Given the description of an element on the screen output the (x, y) to click on. 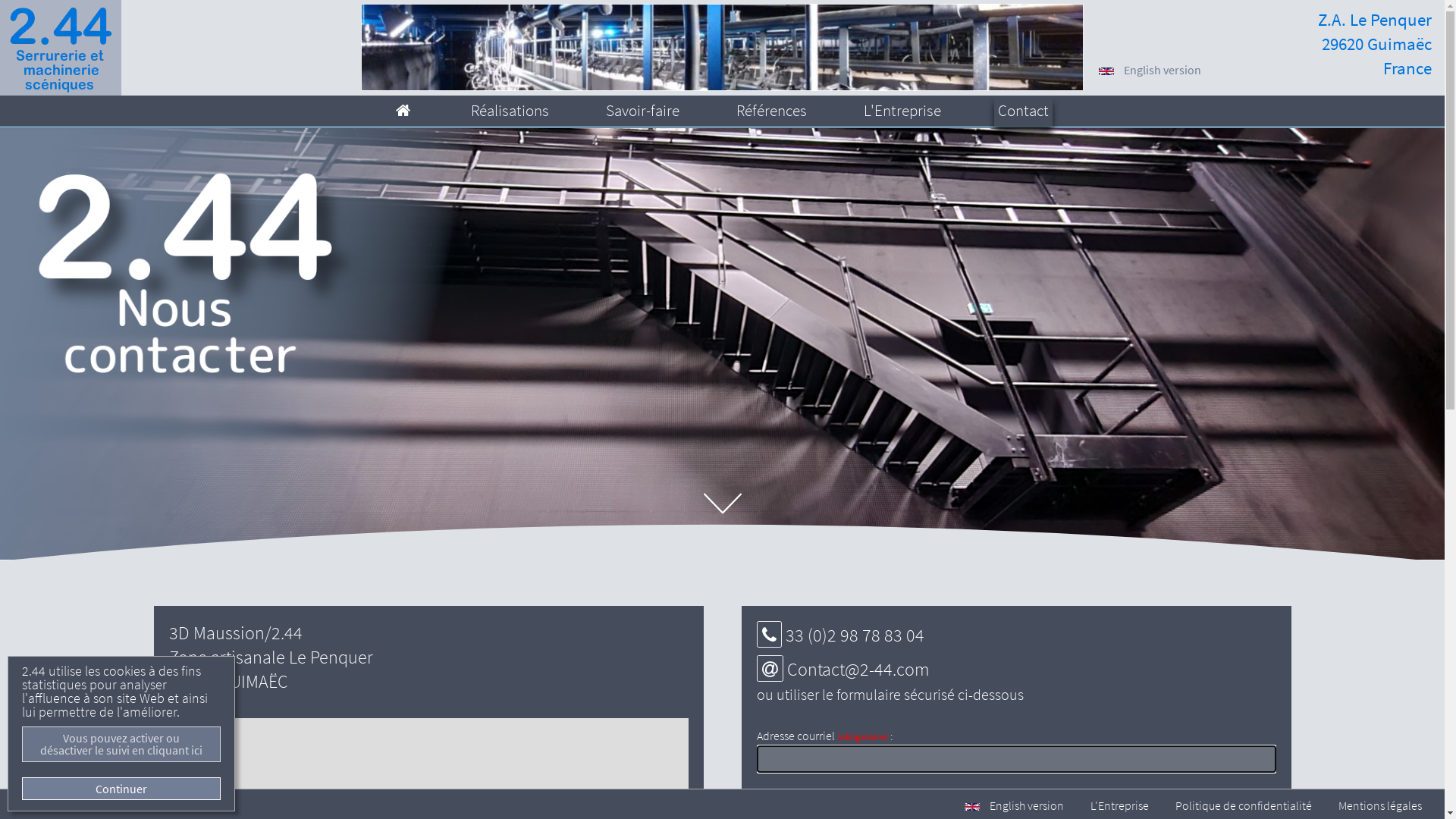
Contact@2-44.com Element type: text (857, 668)
33 (0)2 98 78 83 04 Element type: text (854, 634)
  Element type: text (721, 47)
  Element type: text (404, 110)
Savoir-faire Element type: text (642, 110)
Adresse courriel Element type: hover (769, 667)
L'Entreprise Element type: text (901, 110)
English version Element type: text (1013, 804)
Accueil Element type: hover (404, 110)
English version Element type: text (1153, 69)
L'Entreprise Element type: text (1119, 804)
Continuer Element type: text (120, 788)
Contact Element type: text (1023, 110)
